Given the description of an element on the screen output the (x, y) to click on. 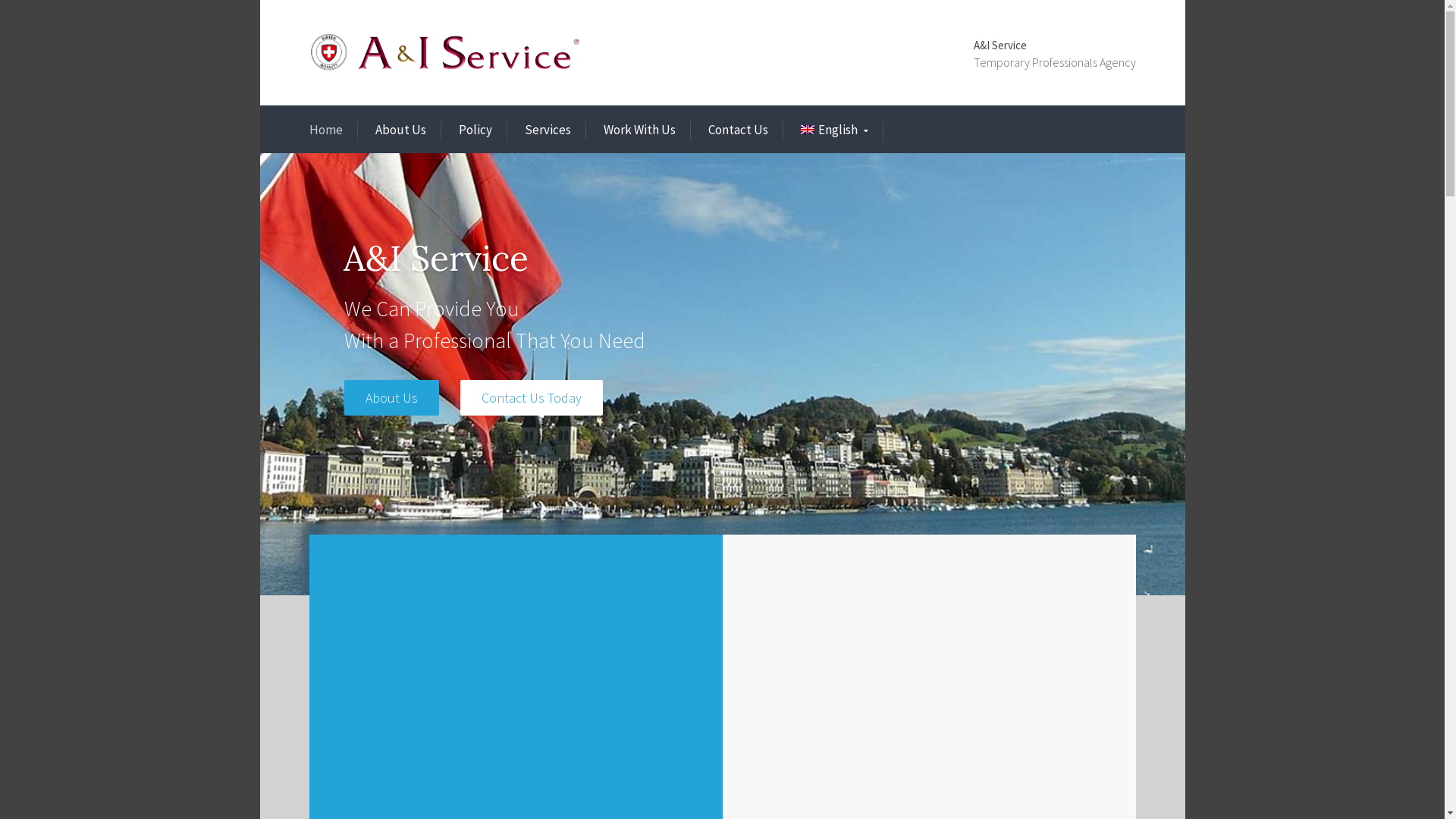
About Us Element type: text (399, 129)
Policy Element type: text (474, 129)
Home Element type: text (325, 129)
Work With Us Element type: text (639, 129)
Contact Us Element type: text (738, 129)
Services Element type: text (547, 129)
English Element type: text (834, 130)
